Given the description of an element on the screen output the (x, y) to click on. 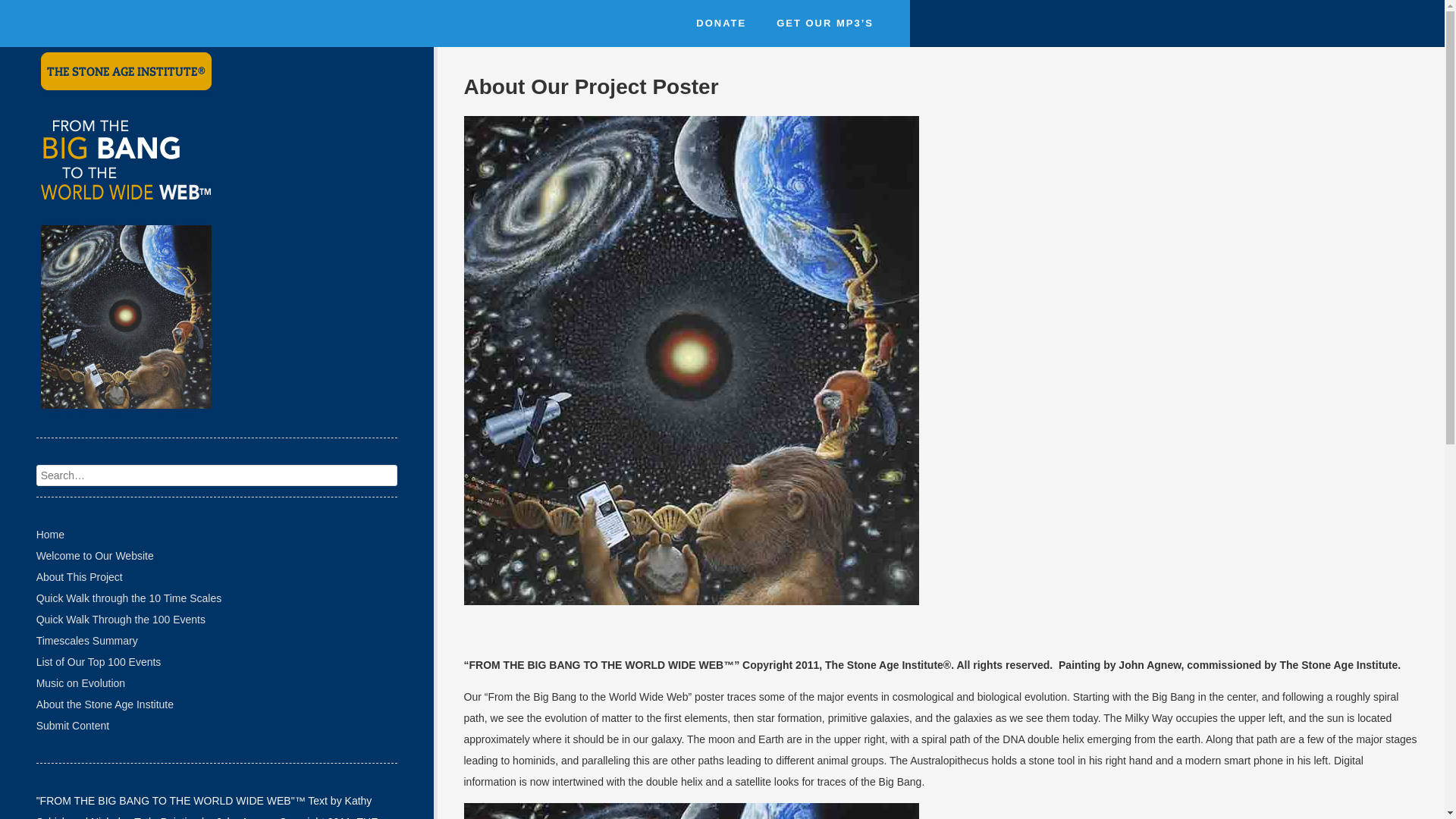
Quick Walk through the 10 Time Scales (129, 597)
About This Project (79, 576)
About the Stone Age Institute (104, 704)
Search (22, 9)
About Our Project Poster (941, 86)
DONATE (721, 23)
Welcome to Our Website (95, 555)
Home (50, 533)
Timescales Summary (87, 640)
Quick Walk Through the 100 Events (120, 619)
Submit Content (73, 725)
List of Our Top 100 Events (98, 661)
Music on Evolution (80, 682)
